Given the description of an element on the screen output the (x, y) to click on. 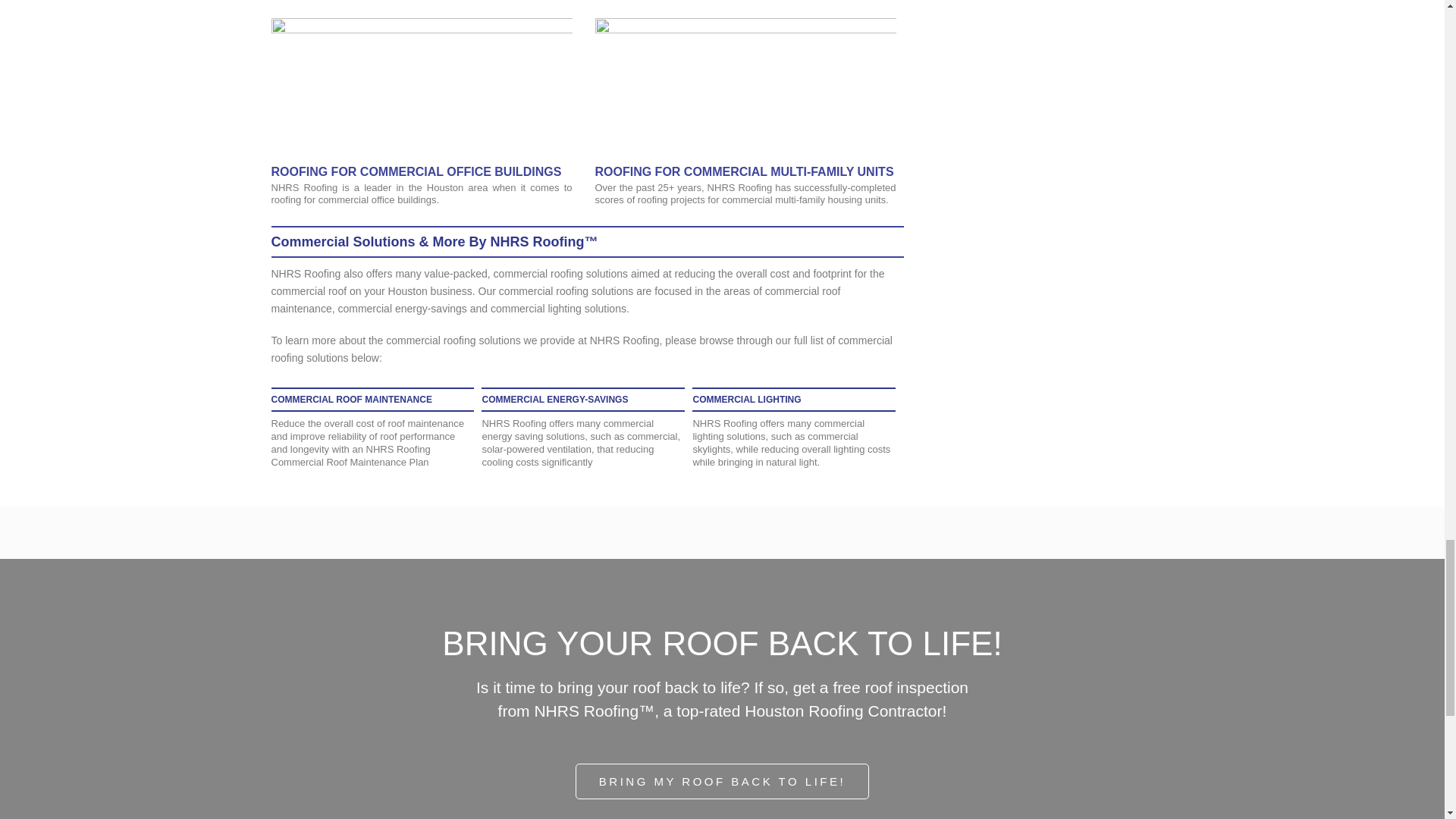
BRING MY ROOF BACK TO LIFE! (722, 781)
ROOFING FOR COMMERCIAL OFFICE BUILDINGS (416, 171)
ROOFING FOR COMMERCIAL MULTI-FAMILY UNITS (743, 171)
